Given the description of an element on the screen output the (x, y) to click on. 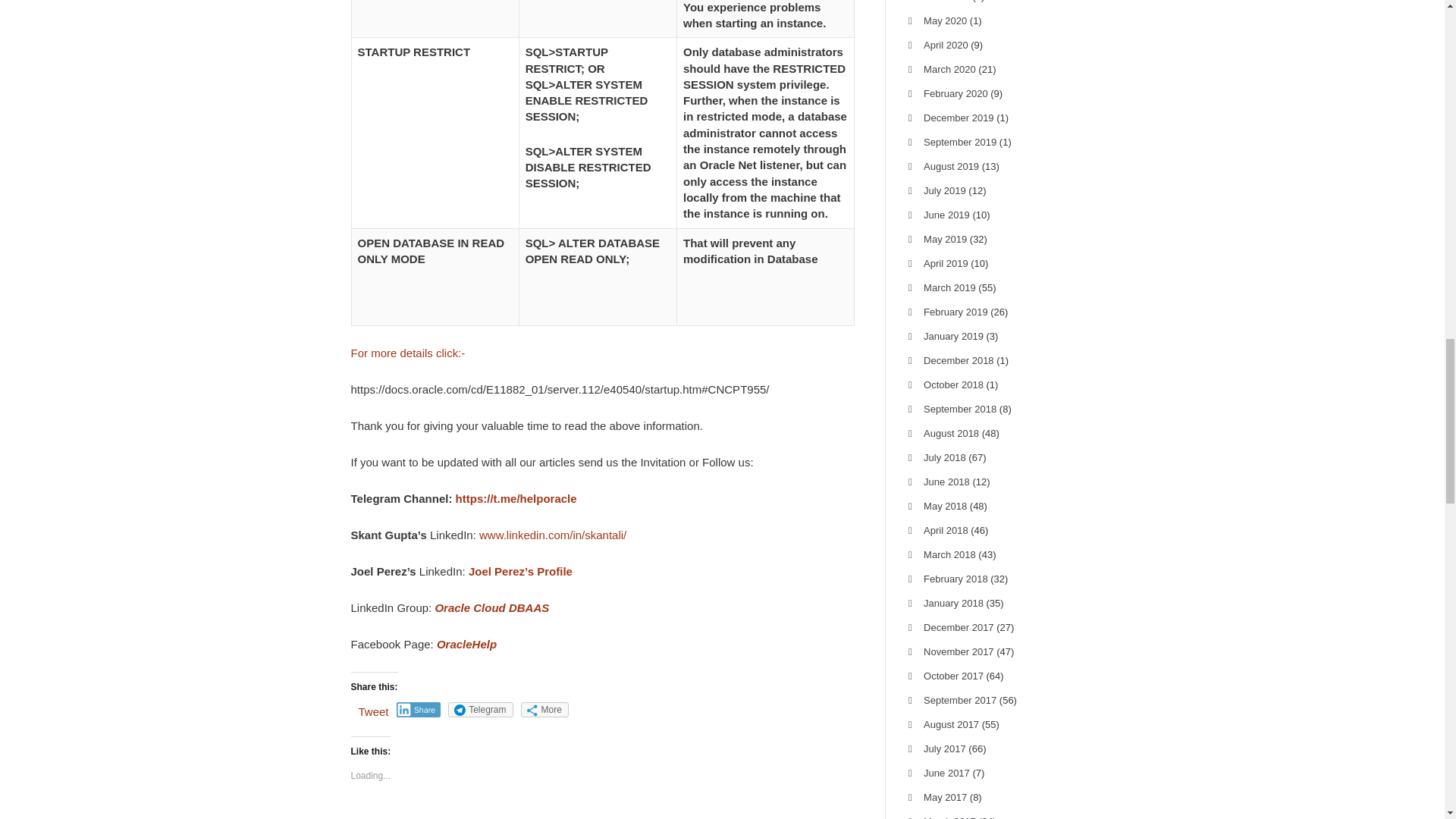
Click to share on Telegram (480, 709)
